Given the description of an element on the screen output the (x, y) to click on. 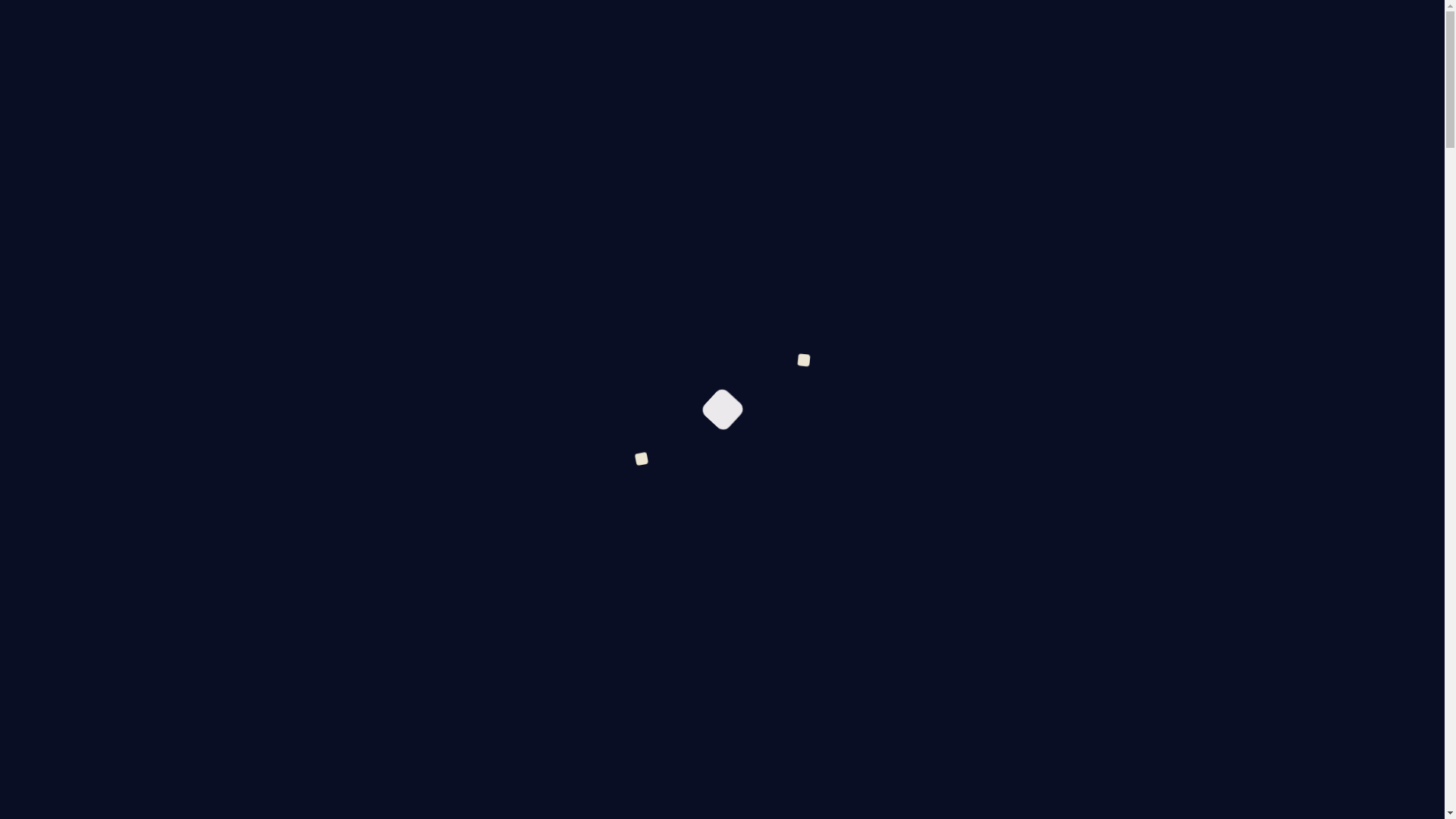
Skinchanger.cc Element type: text (62, 24)
